Given the description of an element on the screen output the (x, y) to click on. 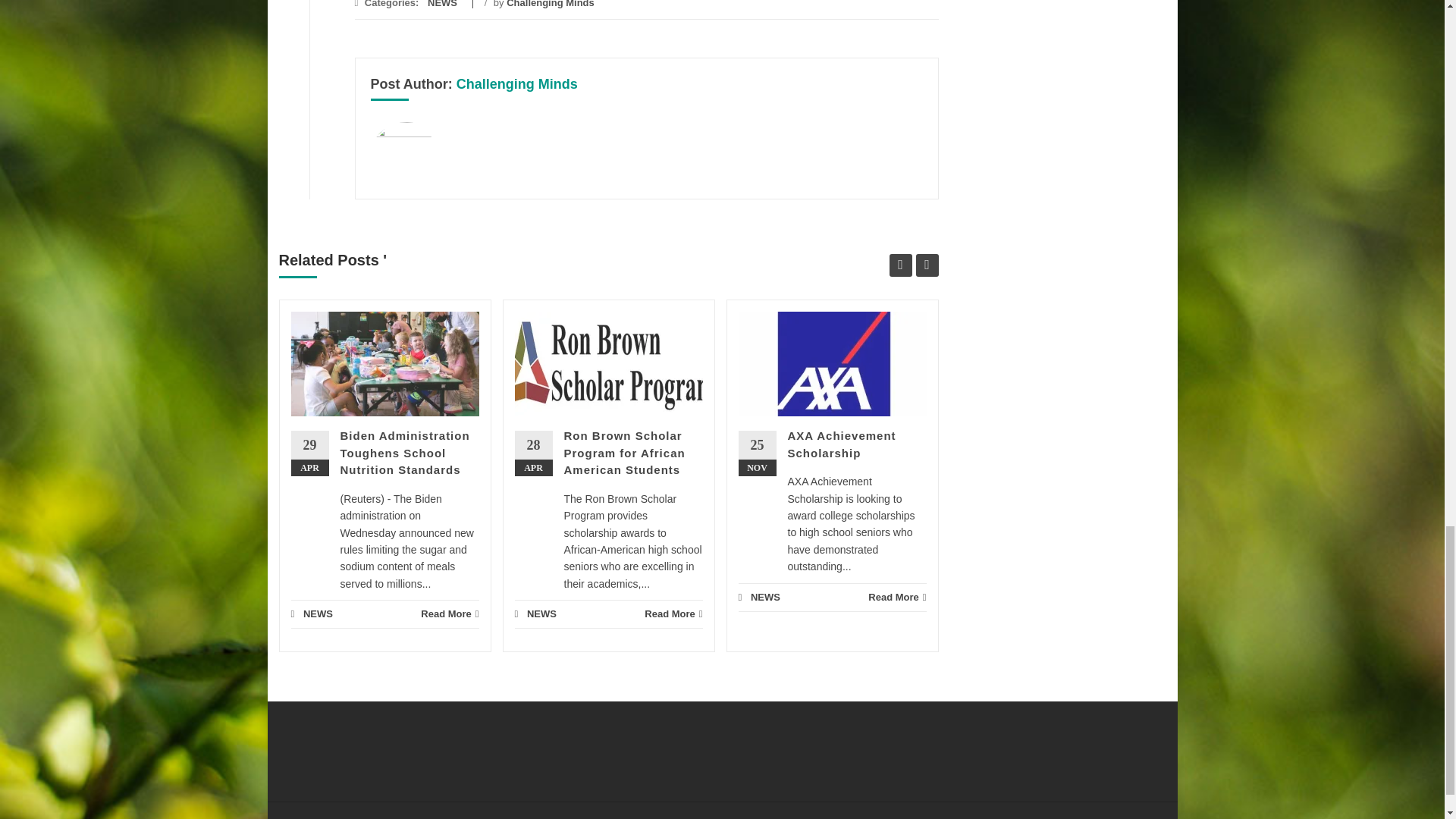
Challenging Minds (550, 4)
NEWS (442, 4)
